Given the description of an element on the screen output the (x, y) to click on. 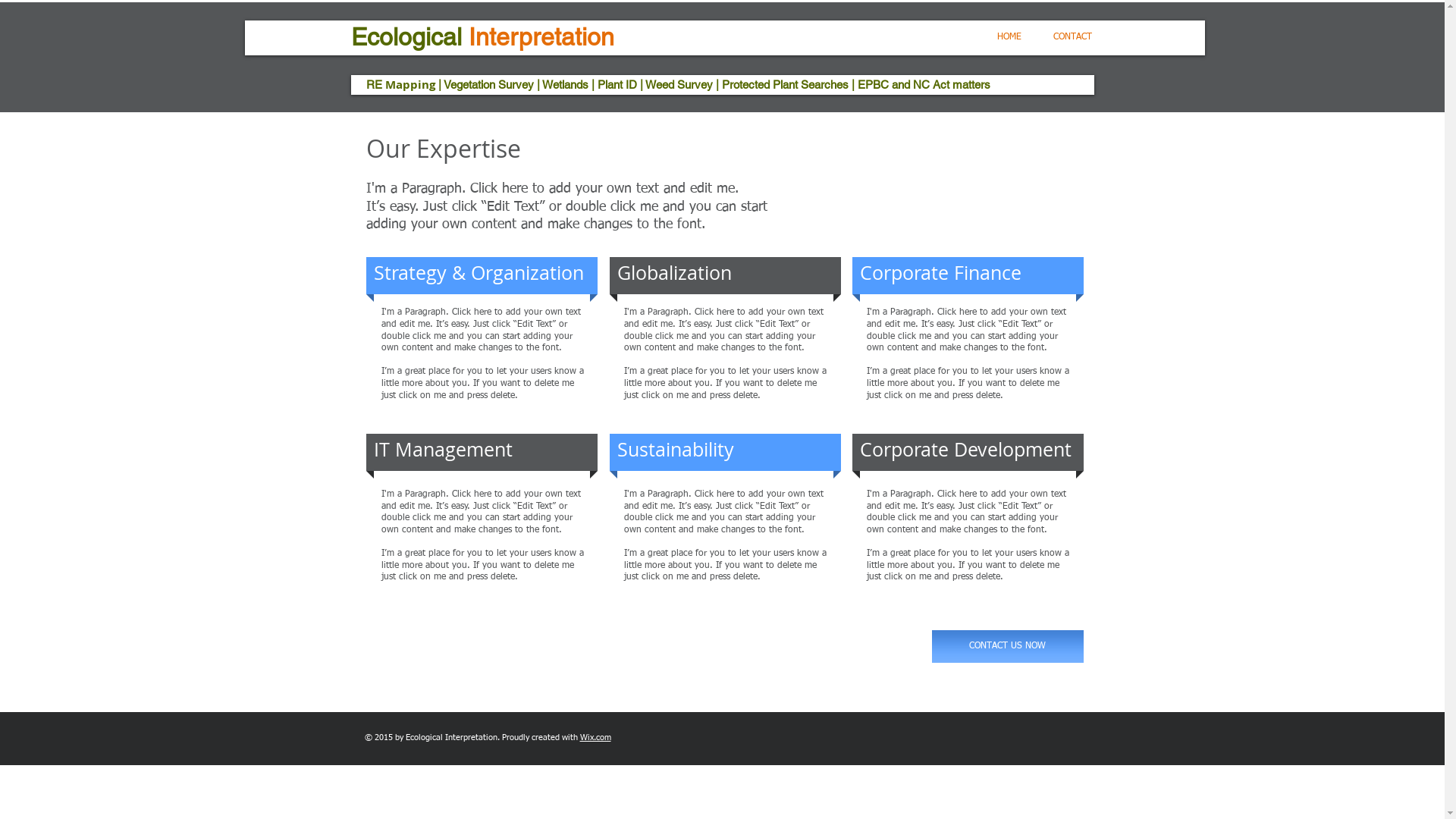
CONTACT Element type: text (1072, 36)
Wix.com Element type: text (594, 737)
Ecological Interpretation Element type: text (481, 36)
CONTACT US NOW Element type: text (1006, 646)
HOME Element type: text (1009, 36)
